Given the description of an element on the screen output the (x, y) to click on. 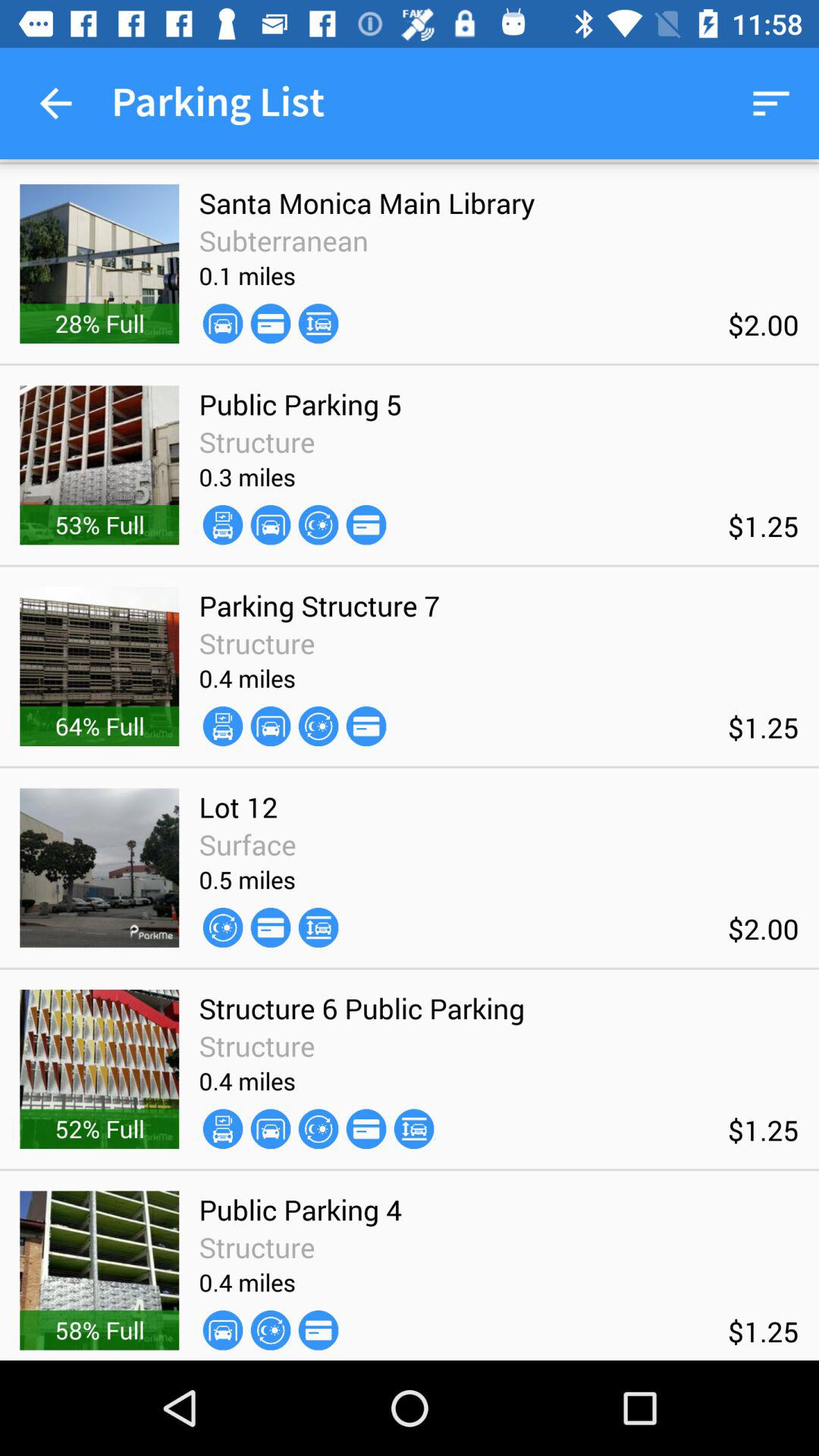
flip to the santa monica main (367, 202)
